Given the description of an element on the screen output the (x, y) to click on. 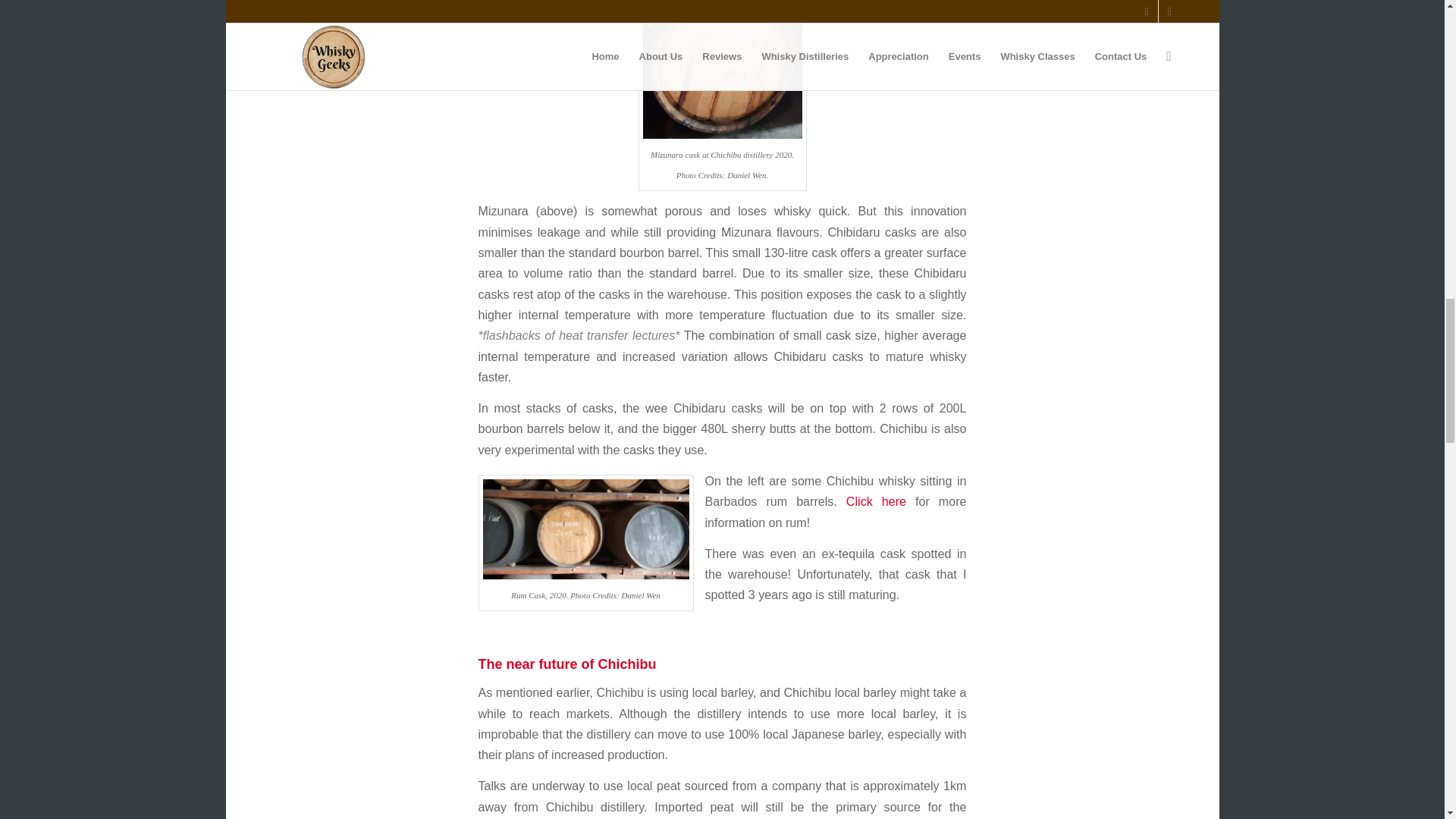
Chichibu (722, 71)
Click here (875, 500)
